Given the description of an element on the screen output the (x, y) to click on. 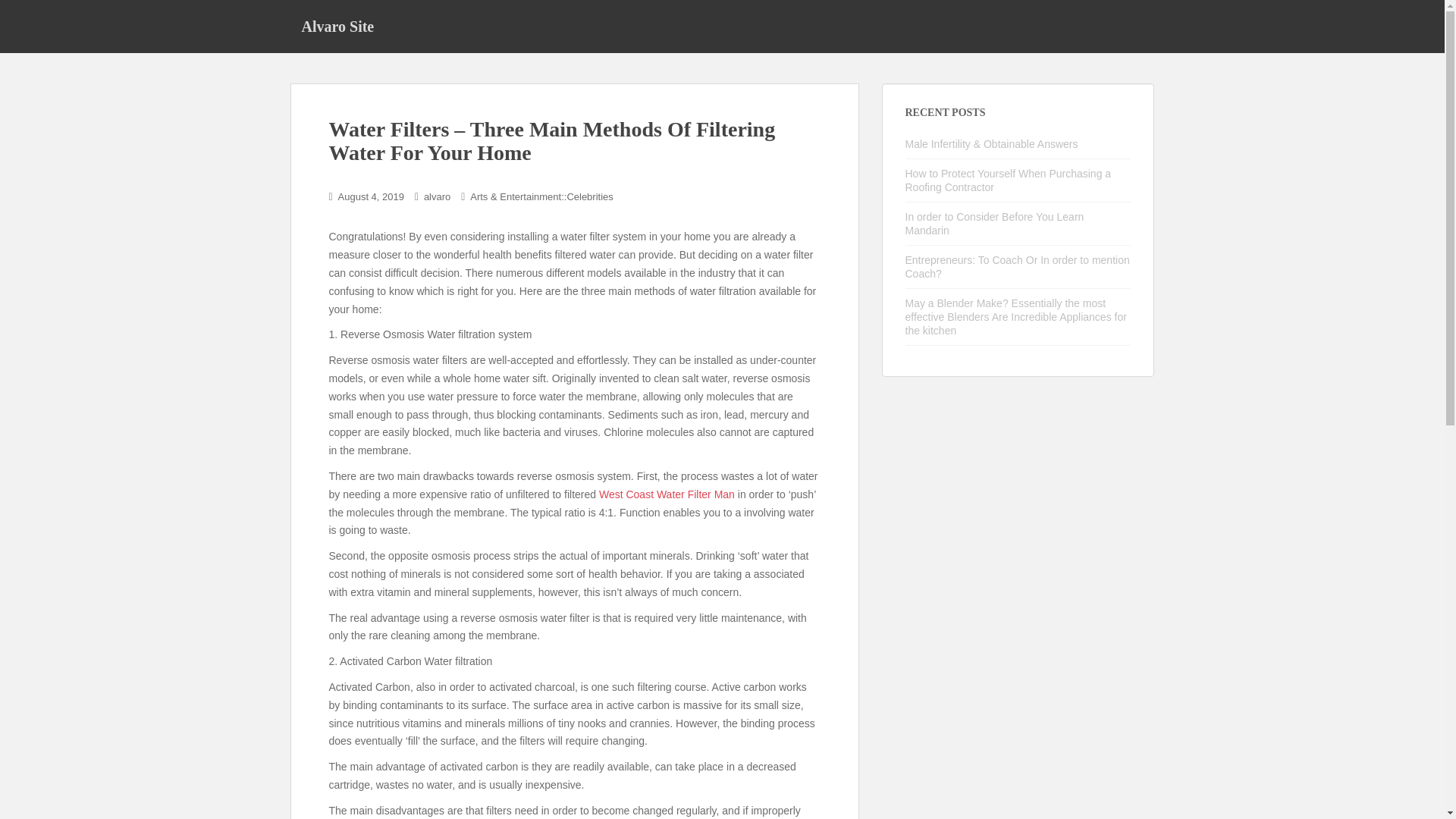
Alvaro Site (337, 26)
West Coast Water Filter Man (666, 494)
August 4, 2019 (370, 196)
Alvaro Site (337, 26)
How to Protect Yourself When Purchasing a Roofing Contractor (1008, 180)
In order to Consider Before You Learn Mandarin (994, 223)
alvaro (436, 196)
Entrepreneurs: To Coach Or In order to mention Coach? (1017, 266)
